Given the description of an element on the screen output the (x, y) to click on. 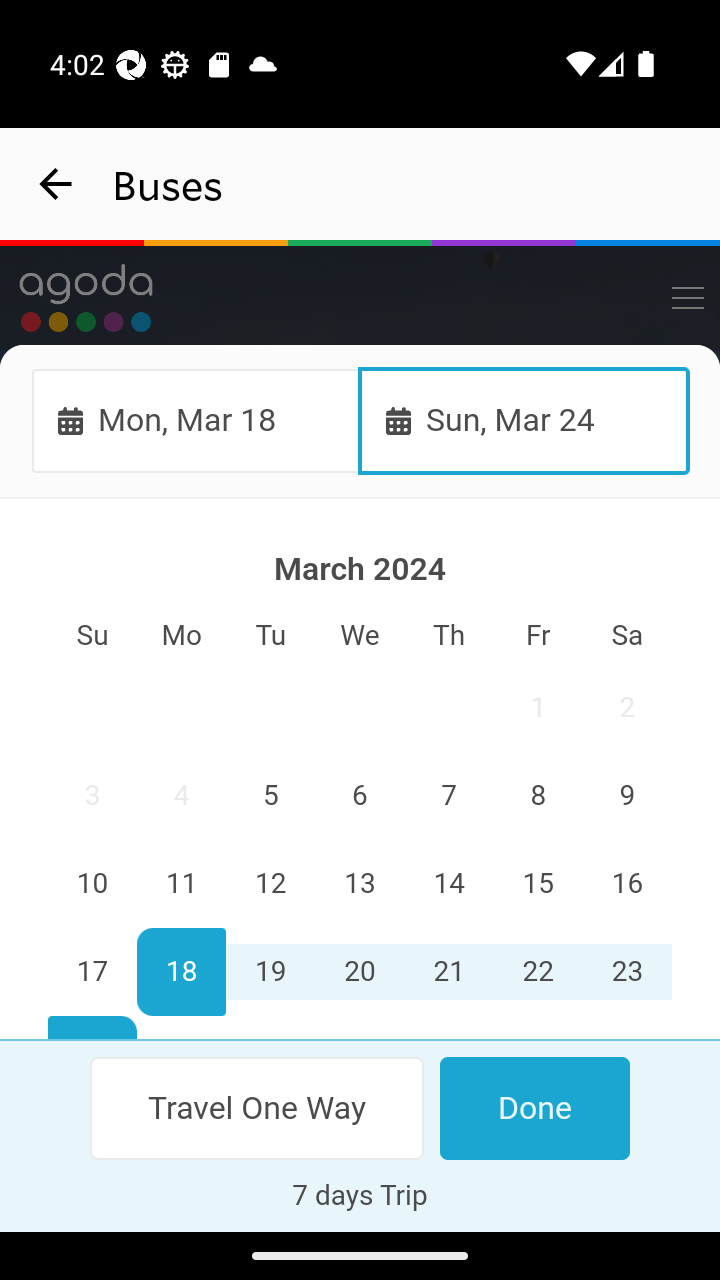
navigation_button (56, 184)
Mon, Mar 18 (195, 420)
Sun, Mar 24 (524, 420)
1 (537, 708)
2 (626, 708)
3 (93, 797)
4 (182, 797)
5 (271, 797)
6 (359, 797)
7 (448, 797)
8 (537, 797)
9 (626, 797)
10 (93, 884)
11 (182, 884)
12 (271, 884)
13 (359, 884)
14 (448, 884)
15 (537, 884)
16 (626, 884)
17 (93, 972)
18 (182, 972)
19 (271, 972)
20 (359, 972)
21 (448, 972)
22 (537, 972)
23 (626, 972)
Travel One Way (258, 1107)
Done (534, 1107)
